Given the description of an element on the screen output the (x, y) to click on. 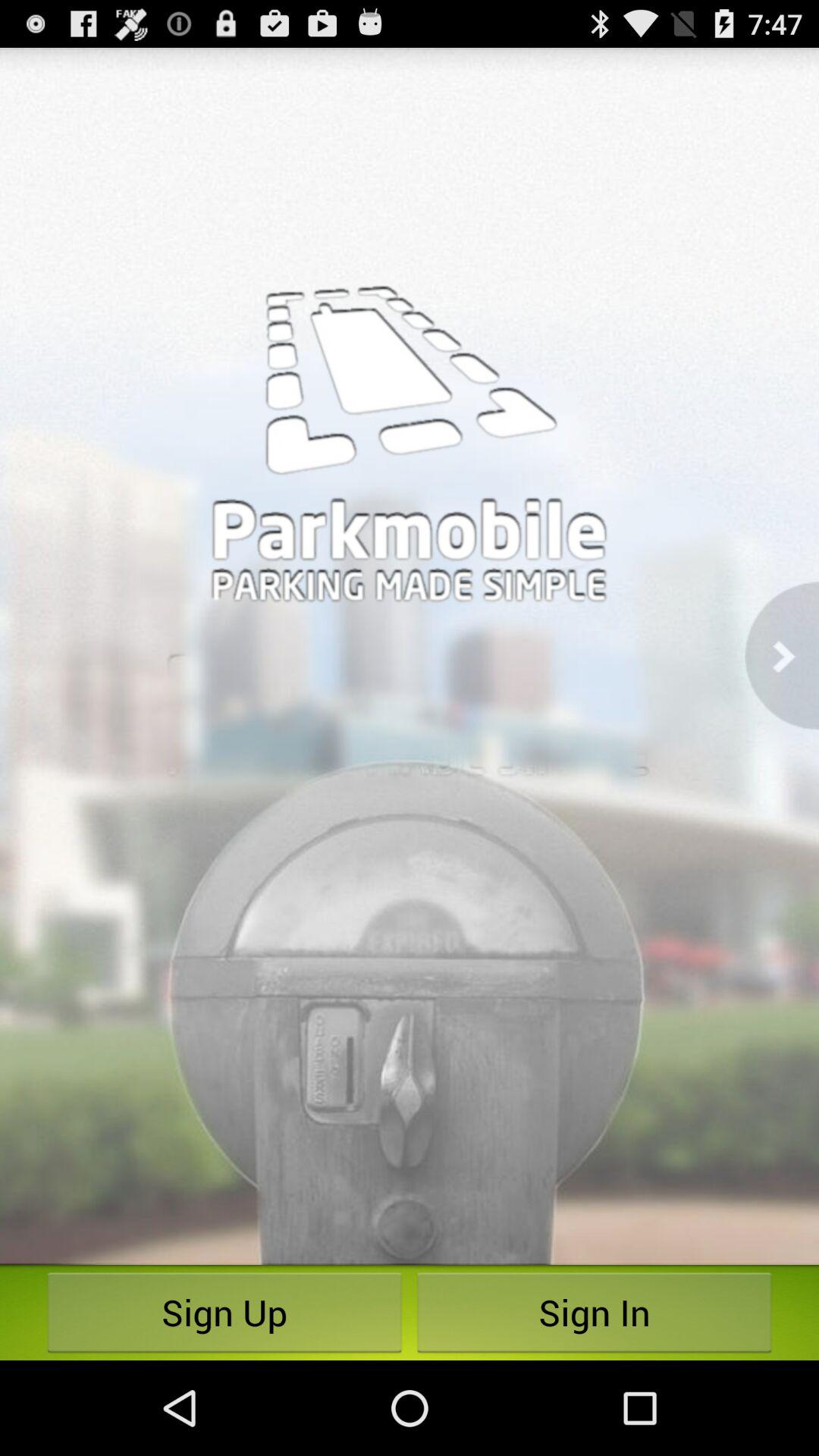
turn off item to the left of the sign in icon (224, 1312)
